Given the description of an element on the screen output the (x, y) to click on. 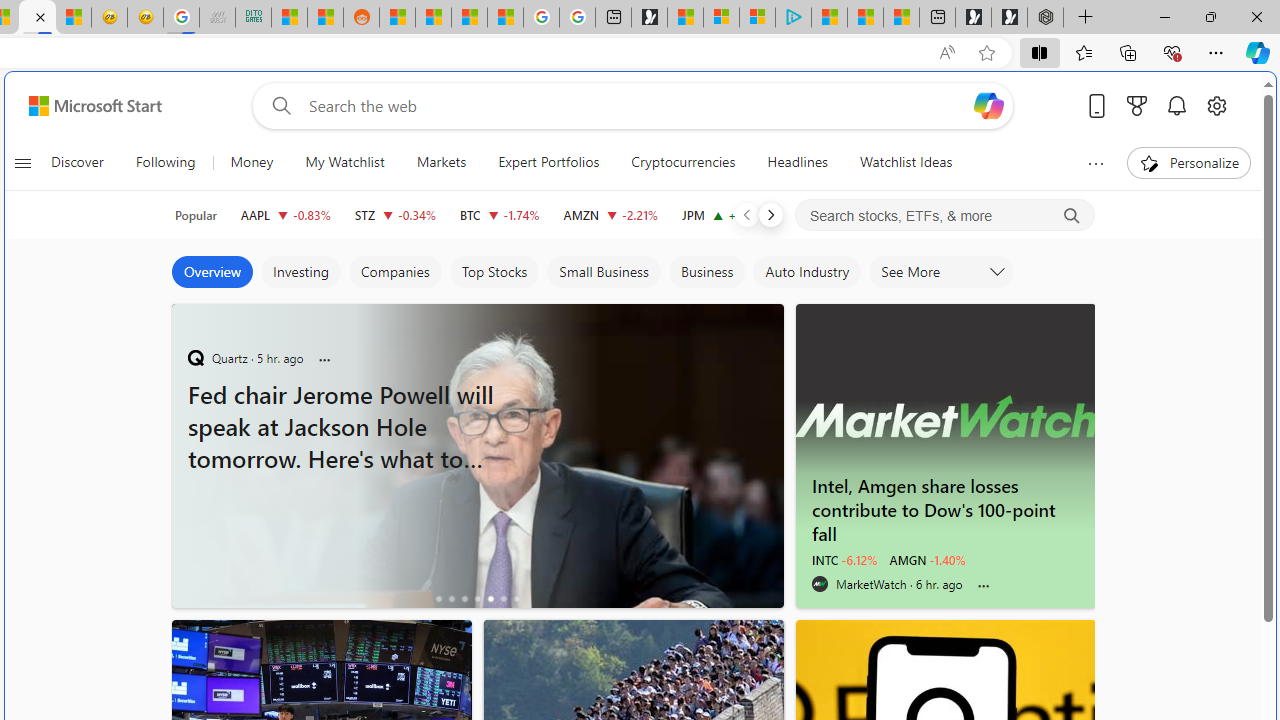
Cryptocurrencies (683, 162)
Investing (299, 272)
AAPL APPLE INC. decrease 224.53 -1.87 -0.83% (285, 214)
INTC -6.12% (844, 560)
